Given the description of an element on the screen output the (x, y) to click on. 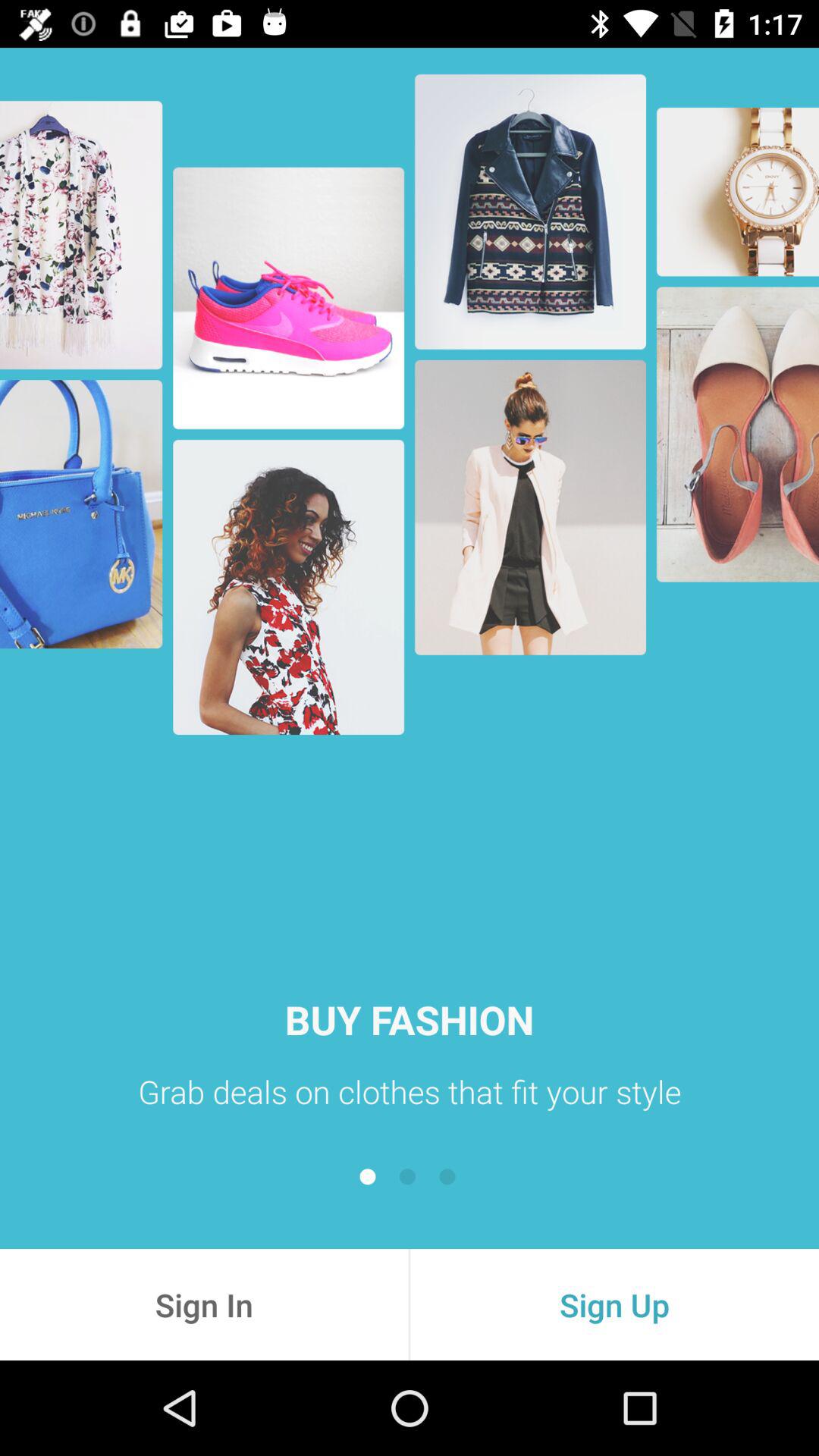
flip to sign in (204, 1304)
